Given the description of an element on the screen output the (x, y) to click on. 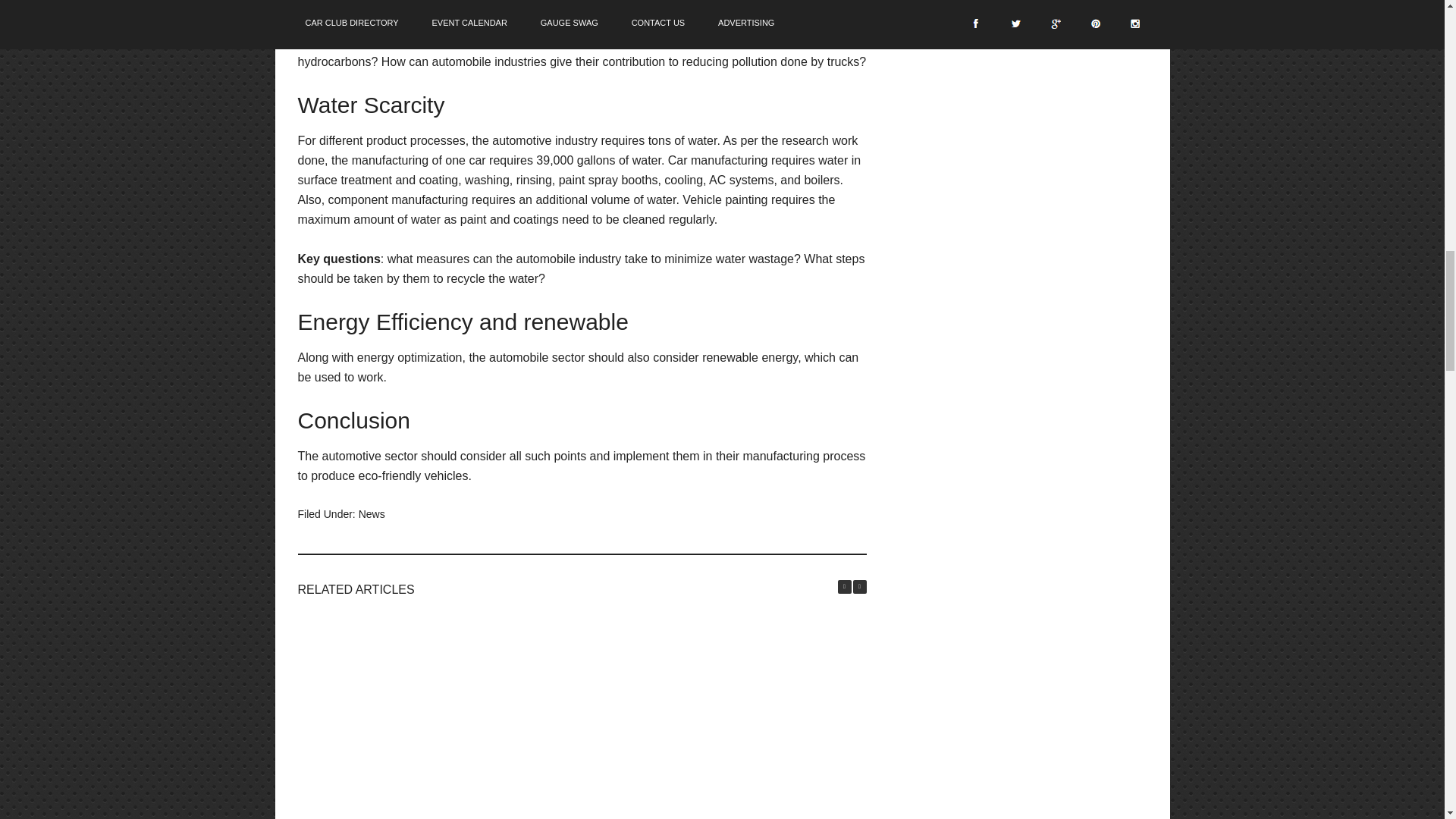
Next (858, 585)
Previous (843, 585)
News (371, 513)
